Given the description of an element on the screen output the (x, y) to click on. 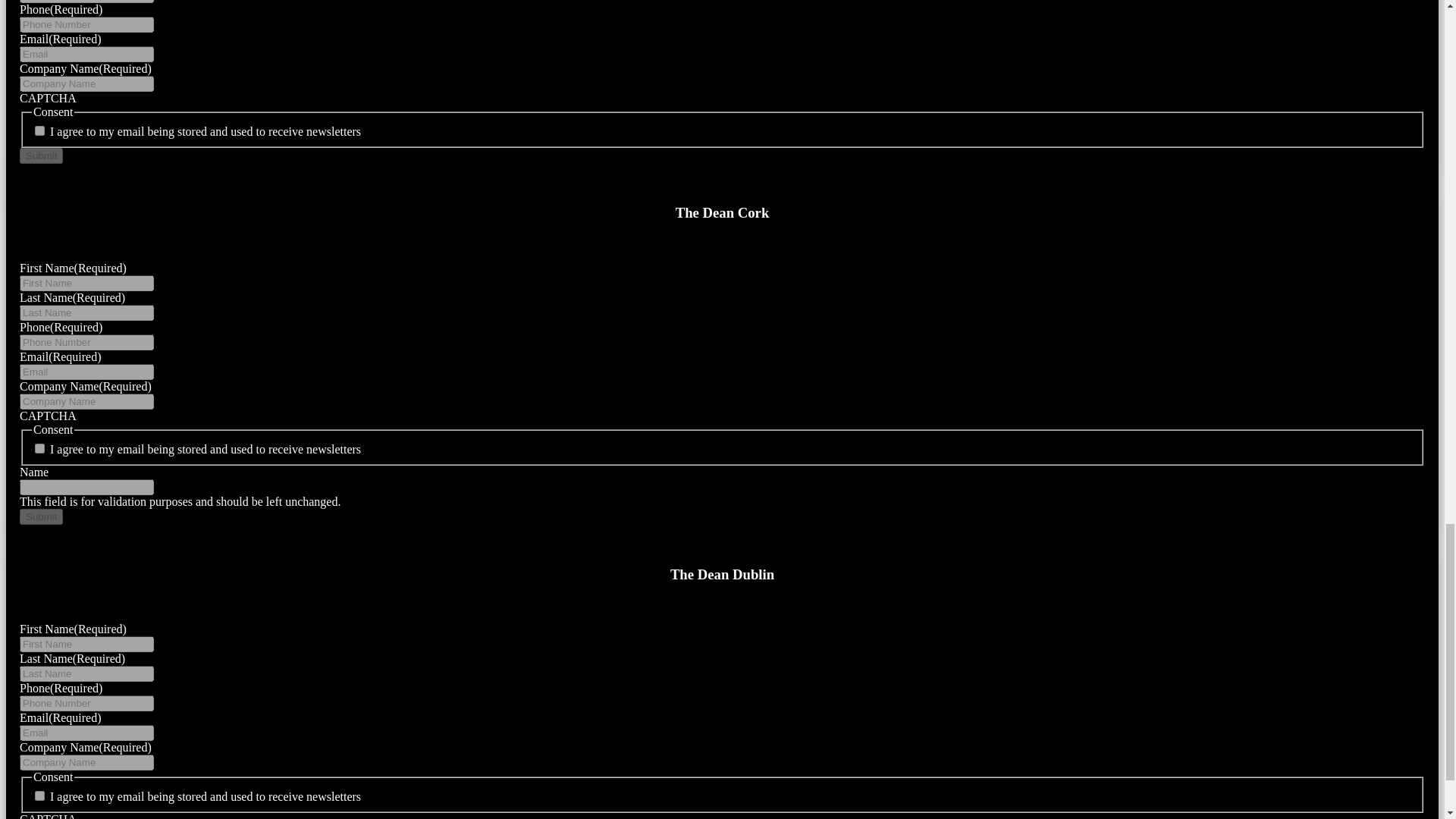
Submit (41, 155)
1 (39, 130)
